Given the description of an element on the screen output the (x, y) to click on. 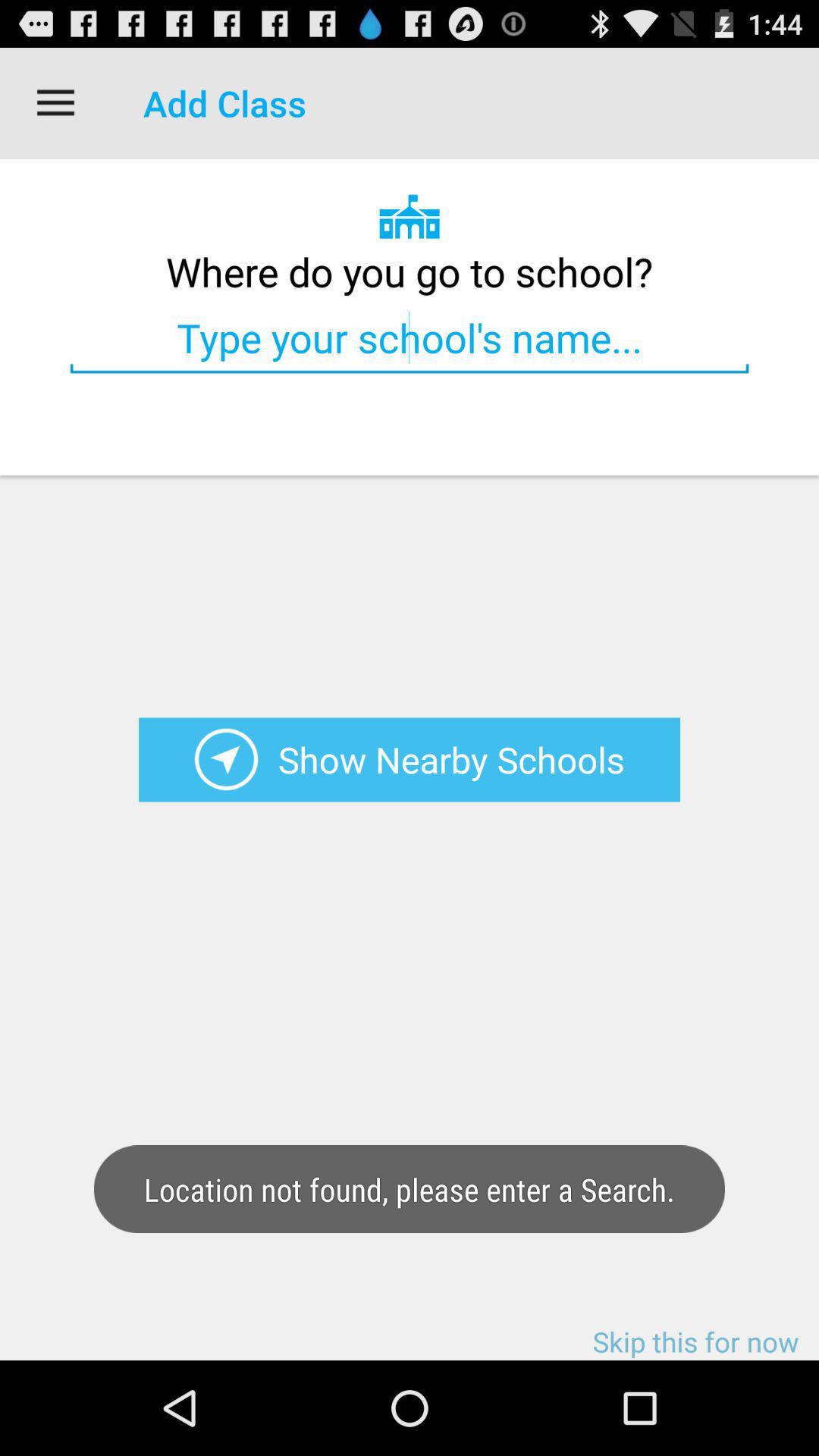
show nearby schools (226, 759)
